Given the description of an element on the screen output the (x, y) to click on. 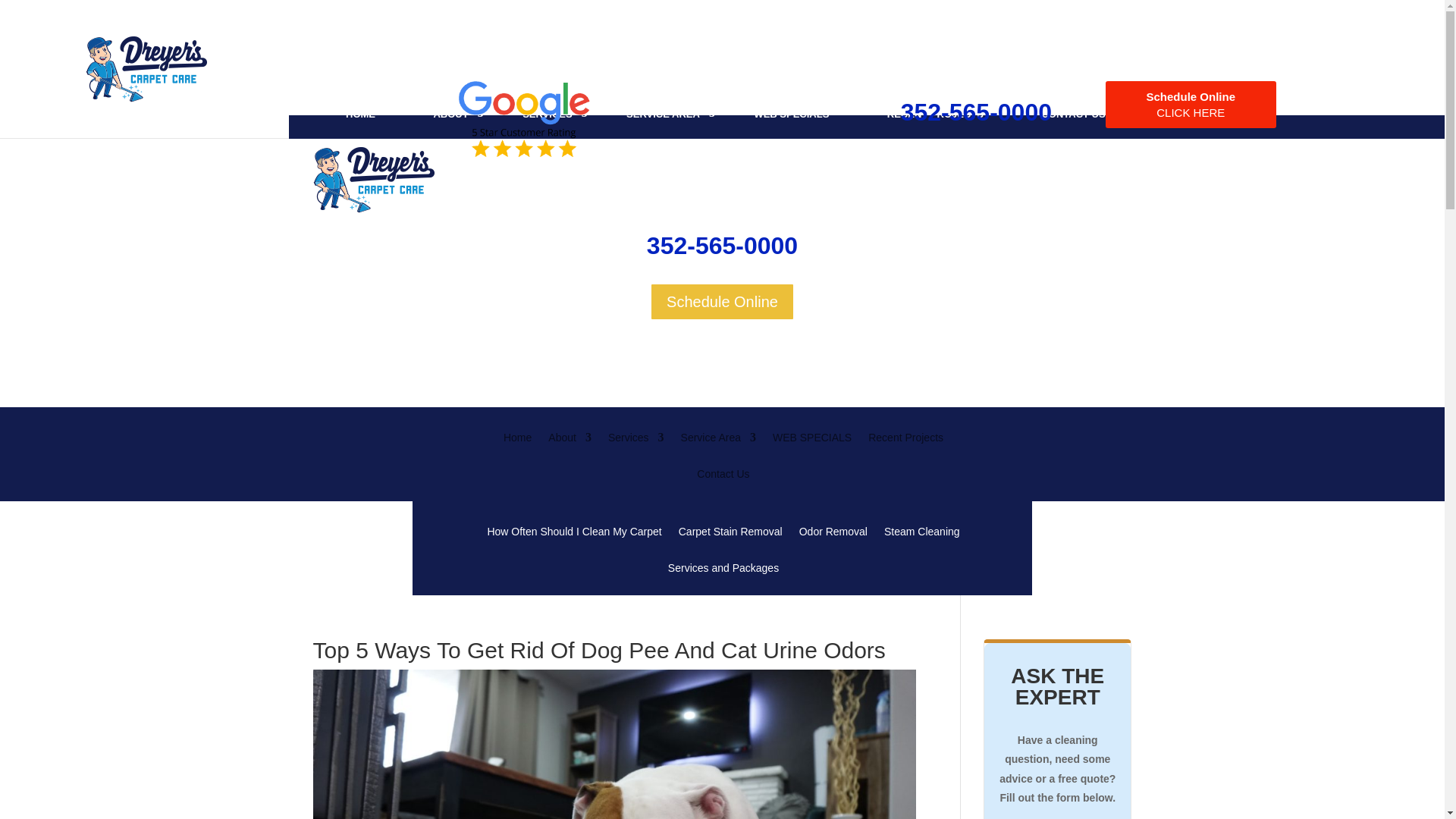
About (569, 448)
Schedule Online (721, 301)
Services (635, 448)
dreyers-logo (373, 179)
5f6e3c573c9a7-5f6e430576597 (524, 119)
